Given the description of an element on the screen output the (x, y) to click on. 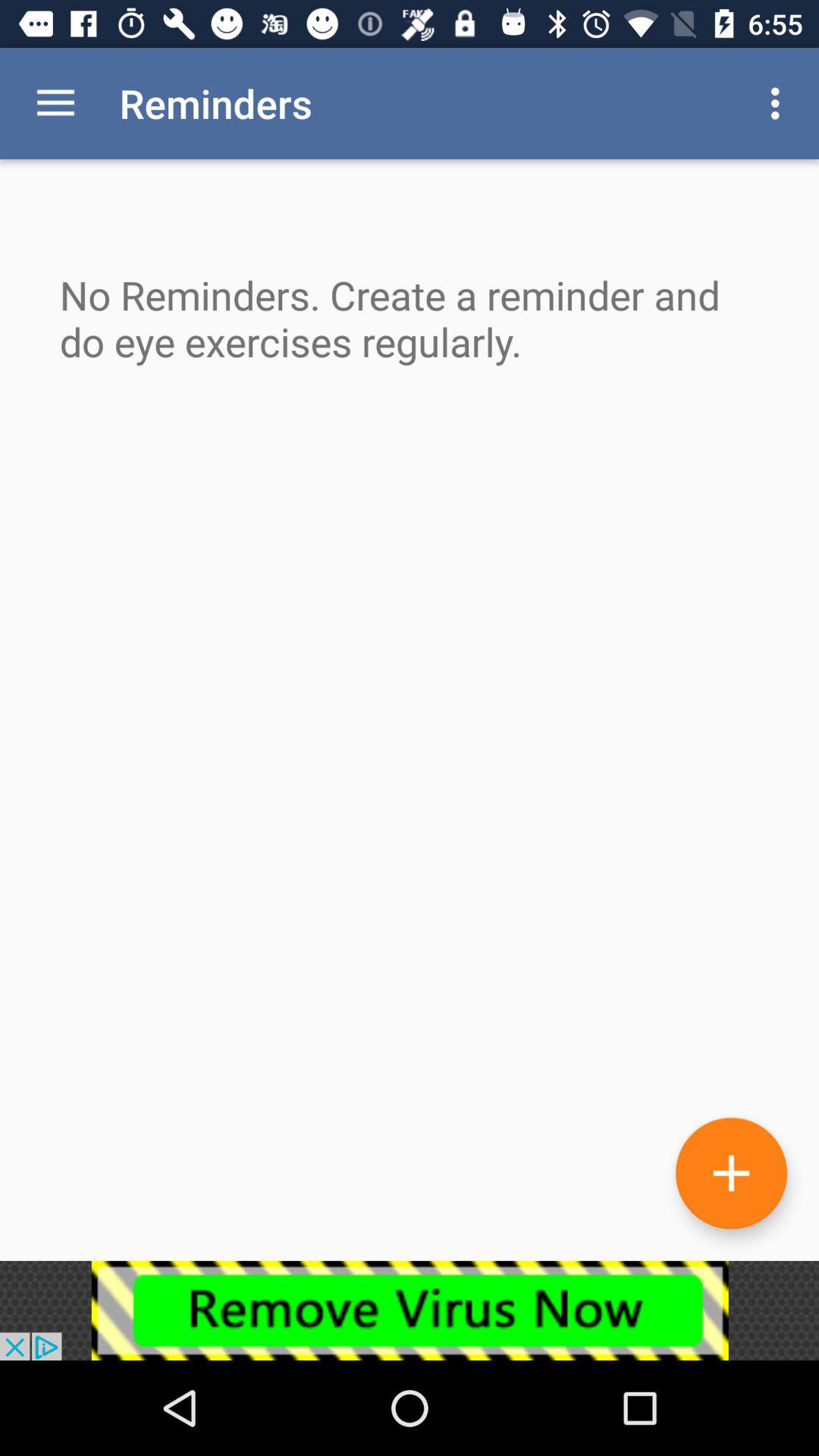
add reminder (731, 1173)
